Given the description of an element on the screen output the (x, y) to click on. 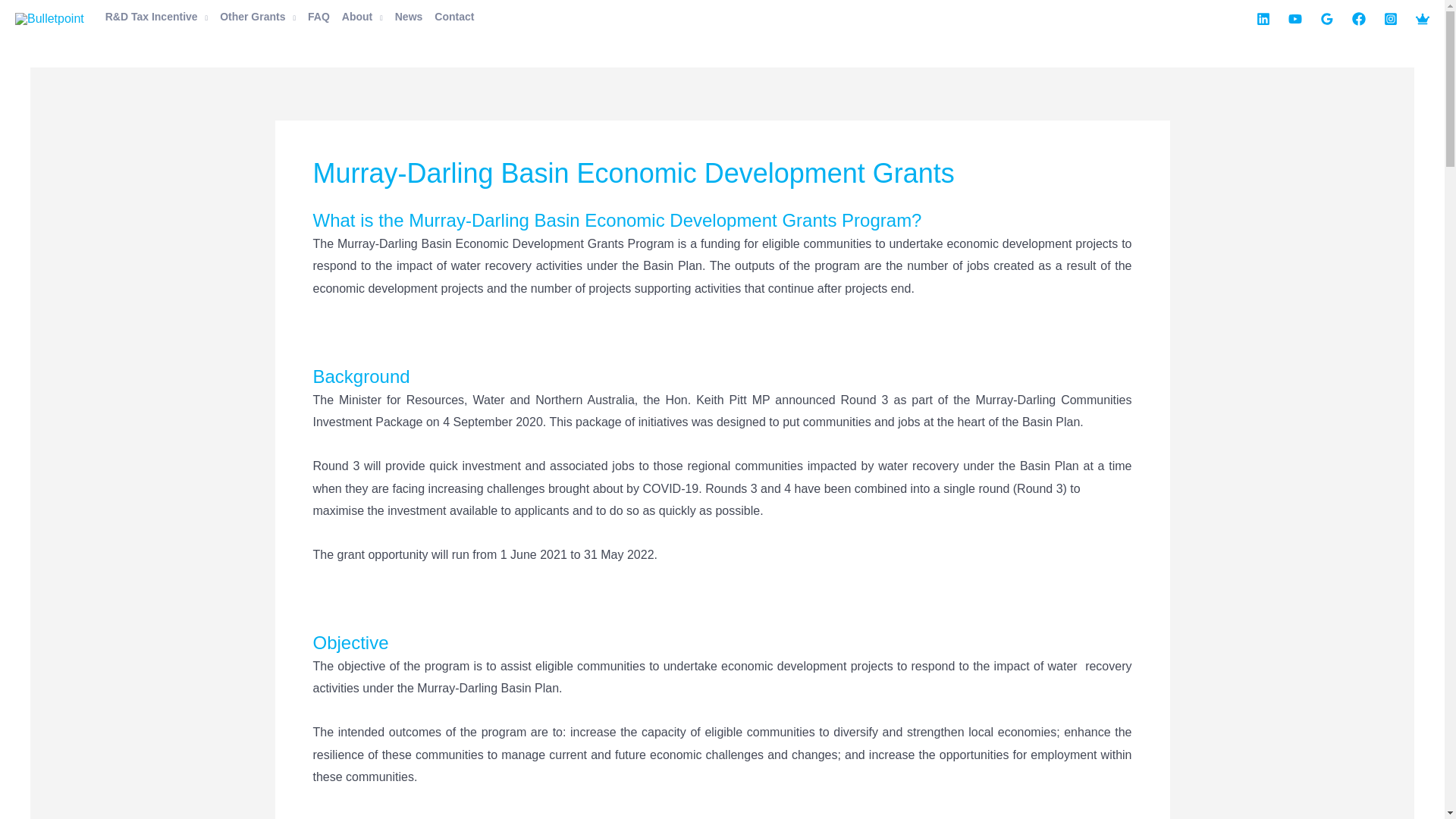
About (362, 17)
FAQ (318, 17)
Contact (454, 17)
Other Grants (257, 17)
News (408, 17)
